Given the description of an element on the screen output the (x, y) to click on. 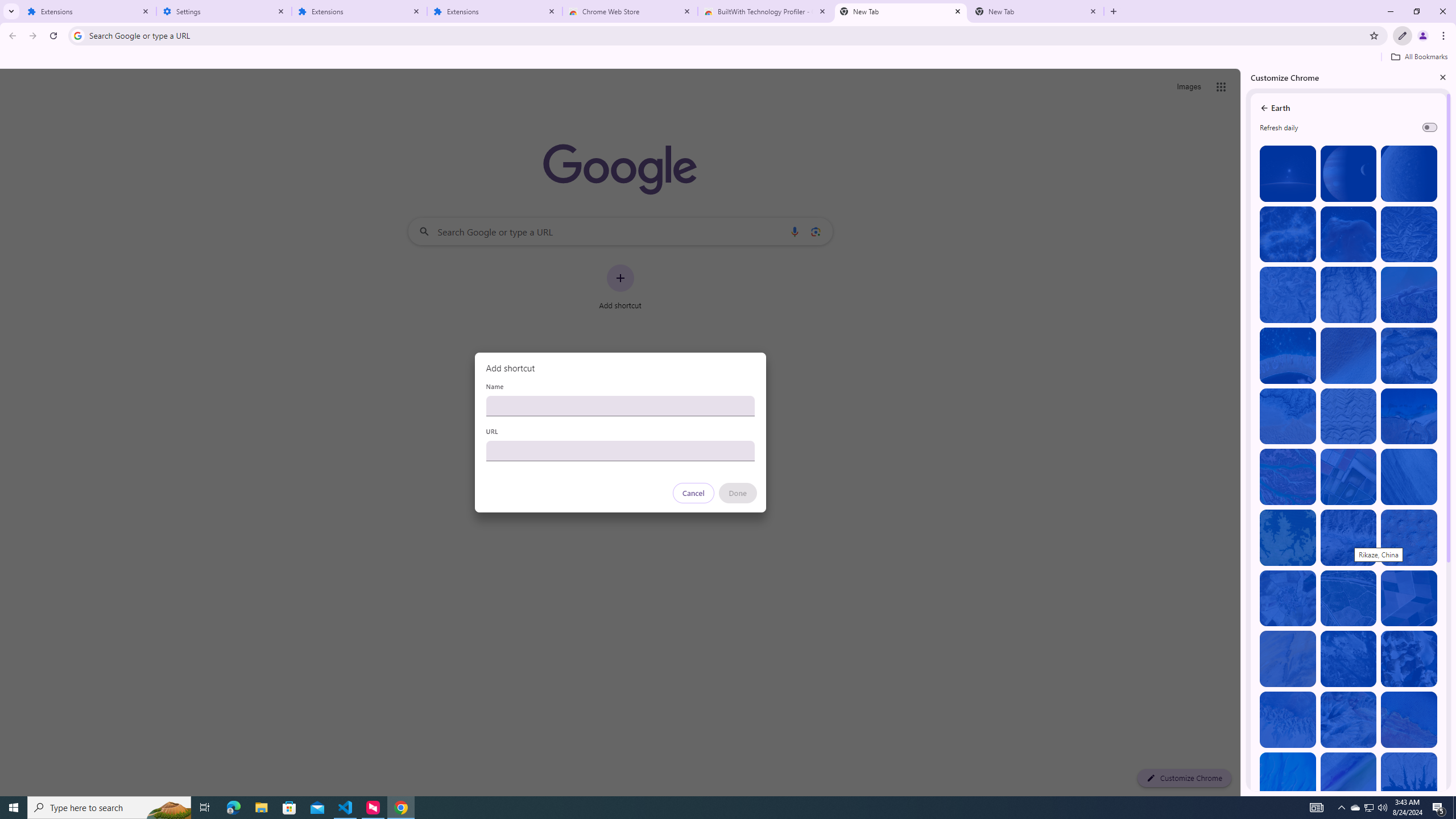
Side Panel Resize Handle (1242, 431)
Photo by NASA Image Library (1348, 233)
Chrome Web Store (630, 11)
Isla Cristina, Spain (1348, 598)
South Eleuthera, The Bahamas (1287, 780)
Pozoantiguo, Spain (1287, 598)
BuiltWith Technology Profiler - Chrome Web Store (765, 11)
Nanggroe Aceh Darussalam, Indonesia (1408, 294)
Hainan, China (1408, 780)
Antarctica (1408, 658)
Trarza, Mauritania (1348, 355)
